Given the description of an element on the screen output the (x, y) to click on. 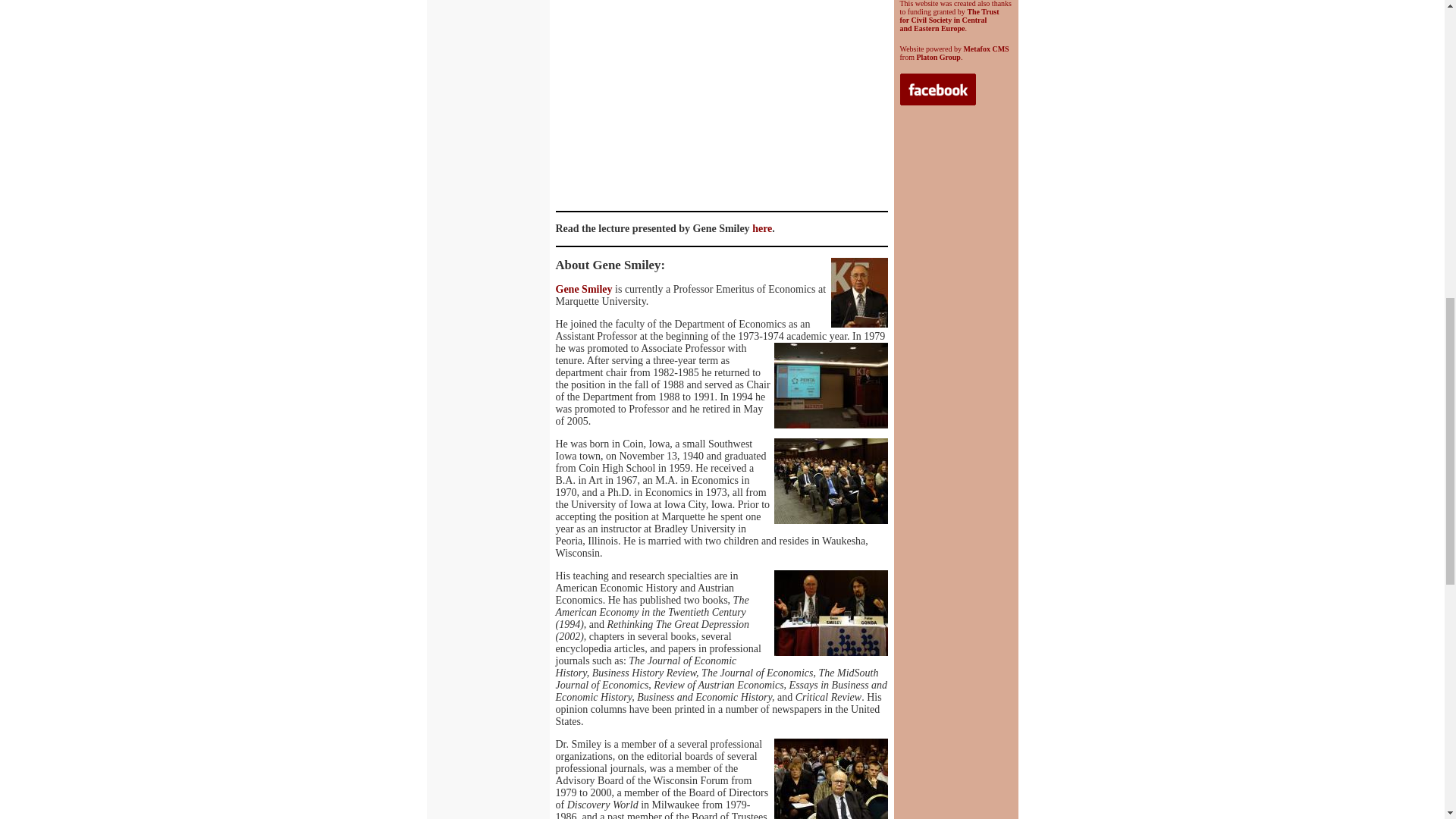
Gene Smiley (582, 288)
here (761, 228)
